Given the description of an element on the screen output the (x, y) to click on. 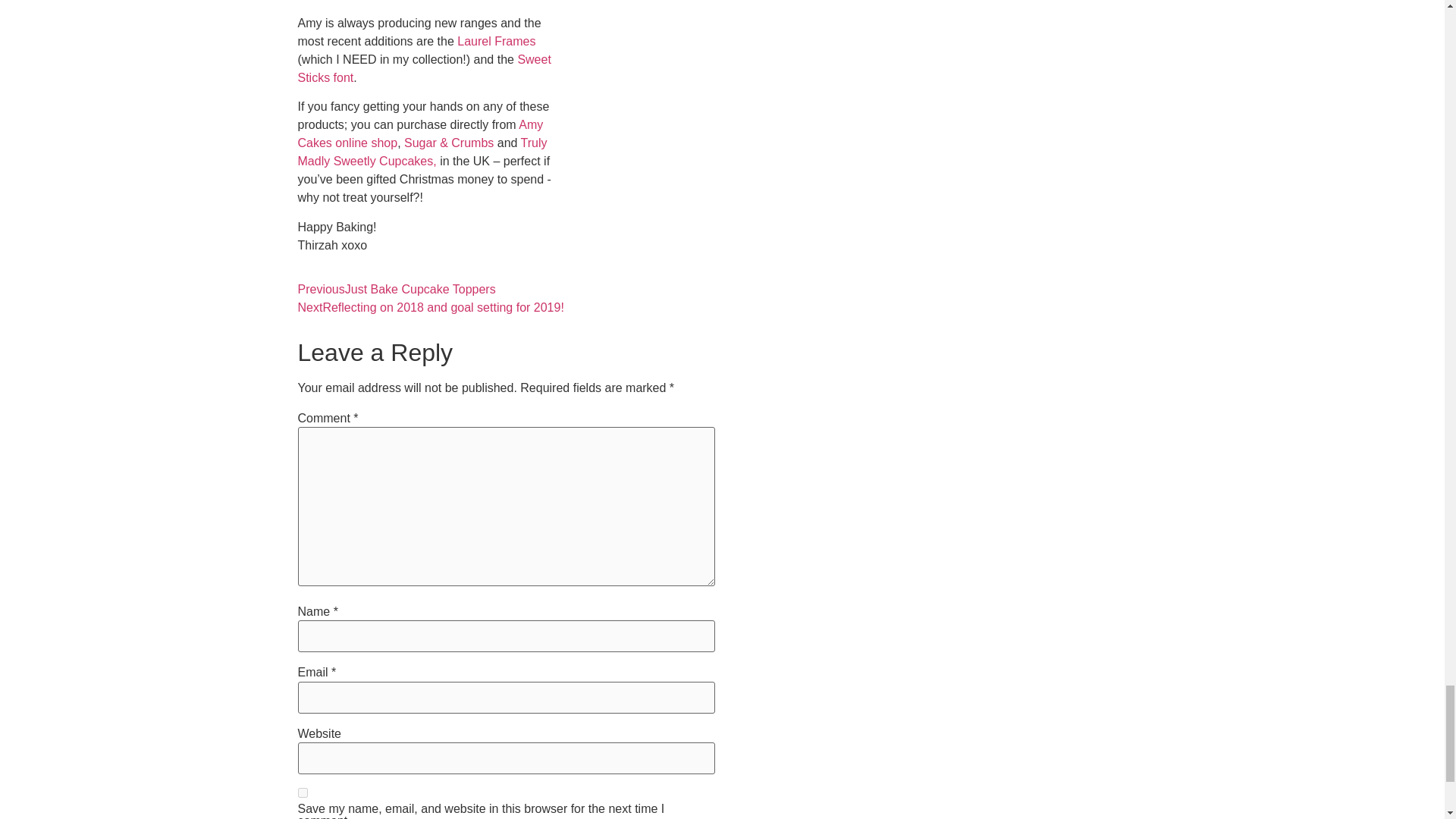
Truly Madly Sweetly Cupcakes, (422, 151)
Sweet Sticks font (423, 68)
NextReflecting on 2018 and goal setting for 2019! (430, 307)
yes (302, 792)
Amy Cakes online shop (420, 133)
Laurel Frames (496, 41)
PreviousJust Bake Cupcake Toppers (396, 288)
